Given the description of an element on the screen output the (x, y) to click on. 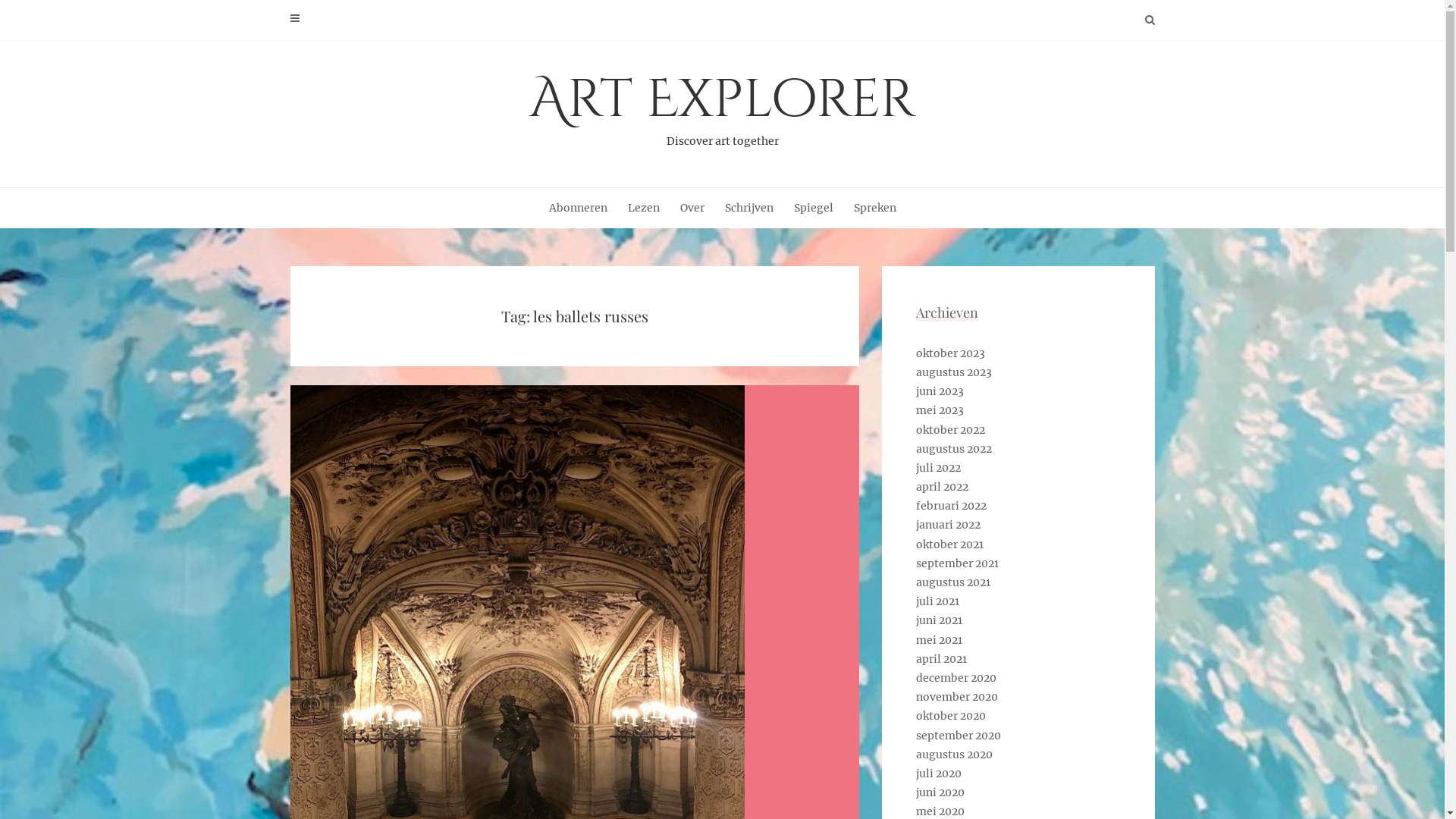
april 2021 Element type: text (941, 658)
Lezen Element type: text (643, 208)
december 2020 Element type: text (956, 677)
juni 2020 Element type: text (940, 792)
Art Explorer
Discover art together Element type: text (721, 106)
Schrijven Element type: text (748, 208)
juni 2021 Element type: text (939, 620)
september 2020 Element type: text (958, 735)
mei 2021 Element type: text (939, 639)
Abonneren Element type: text (577, 208)
oktober 2020 Element type: text (950, 715)
februari 2022 Element type: text (951, 505)
oktober 2023 Element type: text (950, 353)
oktober 2021 Element type: text (949, 544)
september 2021 Element type: text (957, 563)
Spreken Element type: text (874, 208)
juli 2022 Element type: text (938, 467)
januari 2022 Element type: text (948, 524)
mei 2020 Element type: text (940, 811)
augustus 2020 Element type: text (954, 754)
oktober 2022 Element type: text (950, 429)
juni 2023 Element type: text (939, 391)
juli 2020 Element type: text (938, 773)
Spiegel Element type: text (812, 208)
mei 2023 Element type: text (939, 410)
Over Element type: text (691, 208)
augustus 2022 Element type: text (953, 448)
augustus 2021 Element type: text (953, 582)
november 2020 Element type: text (956, 696)
april 2022 Element type: text (942, 486)
juli 2021 Element type: text (937, 601)
augustus 2023 Element type: text (953, 372)
